Given the description of an element on the screen output the (x, y) to click on. 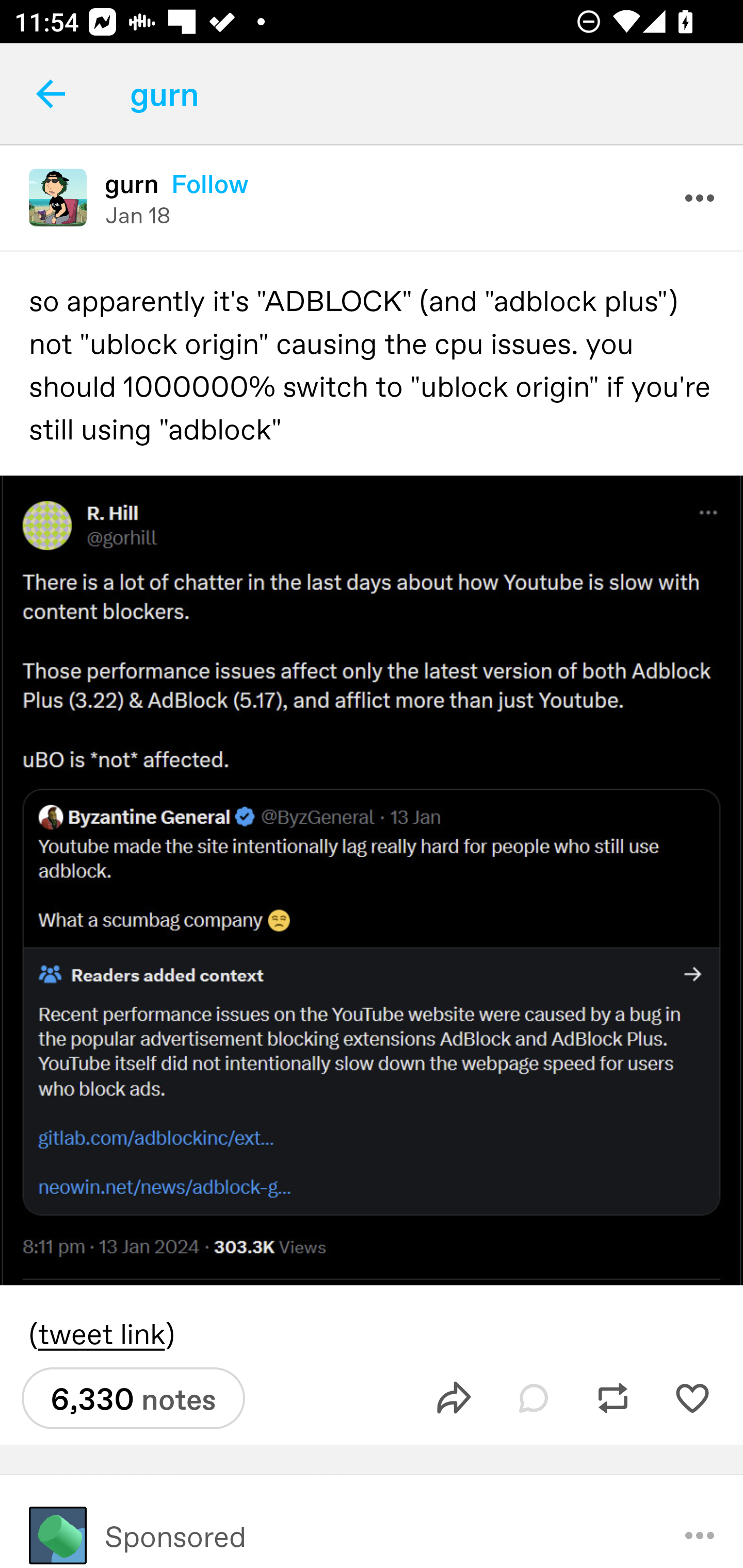
Navigate up (50, 93)
Avatar frame gurn   gurn Follow Jan 18 (371, 197)
Follow (209, 183)
Share post to message (454, 1398)
Reblog (612, 1398)
Like (691, 1398)
6,330 notes (133, 1398)
Why do I see this ad? (699, 1520)
